Given the description of an element on the screen output the (x, y) to click on. 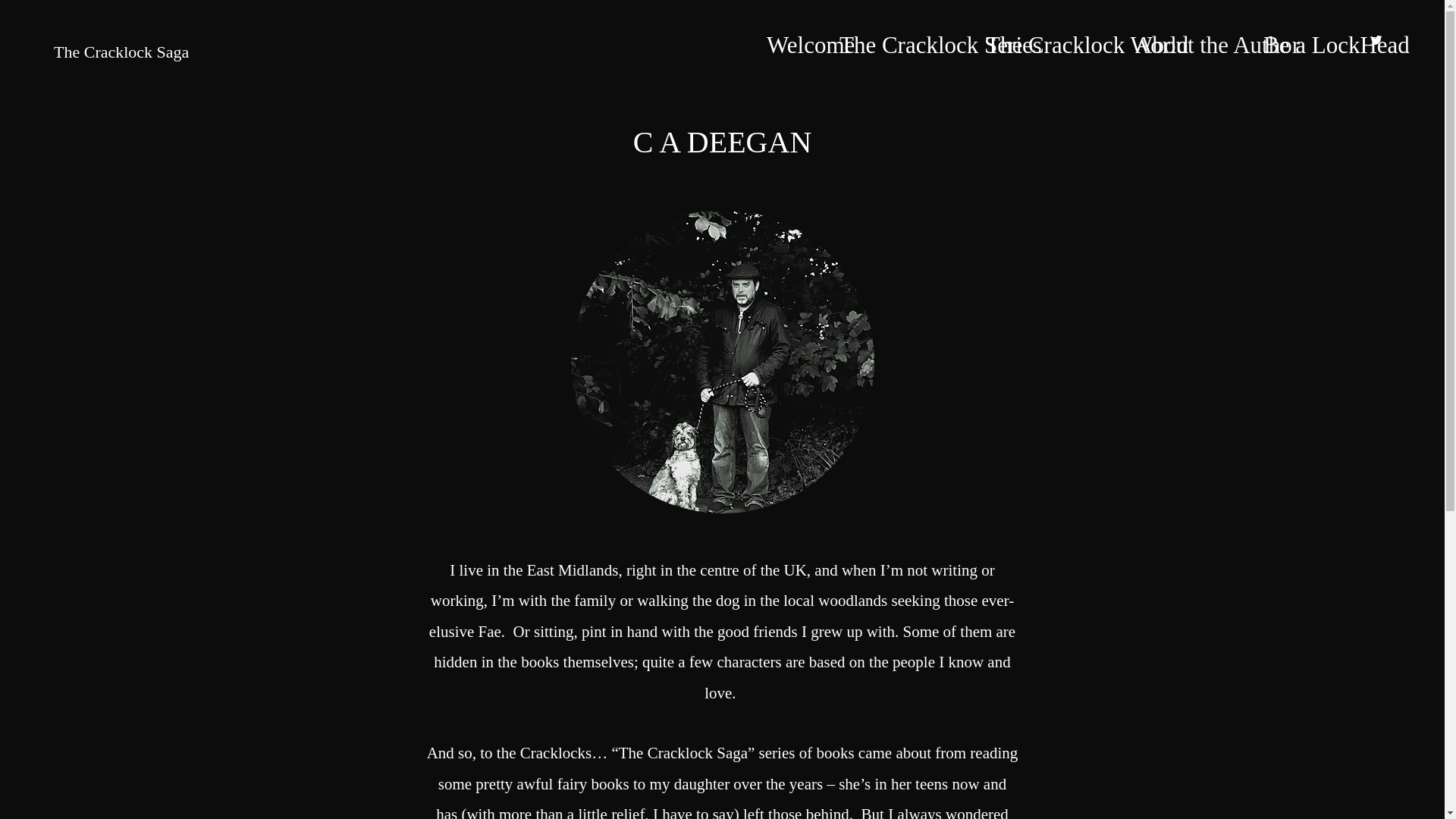
Be a LockHead (1306, 39)
The Cracklock Saga (121, 51)
Welcome (794, 39)
About the Author (1190, 39)
The Cracklock World (1052, 39)
The Cracklock Series (904, 39)
